Given the description of an element on the screen output the (x, y) to click on. 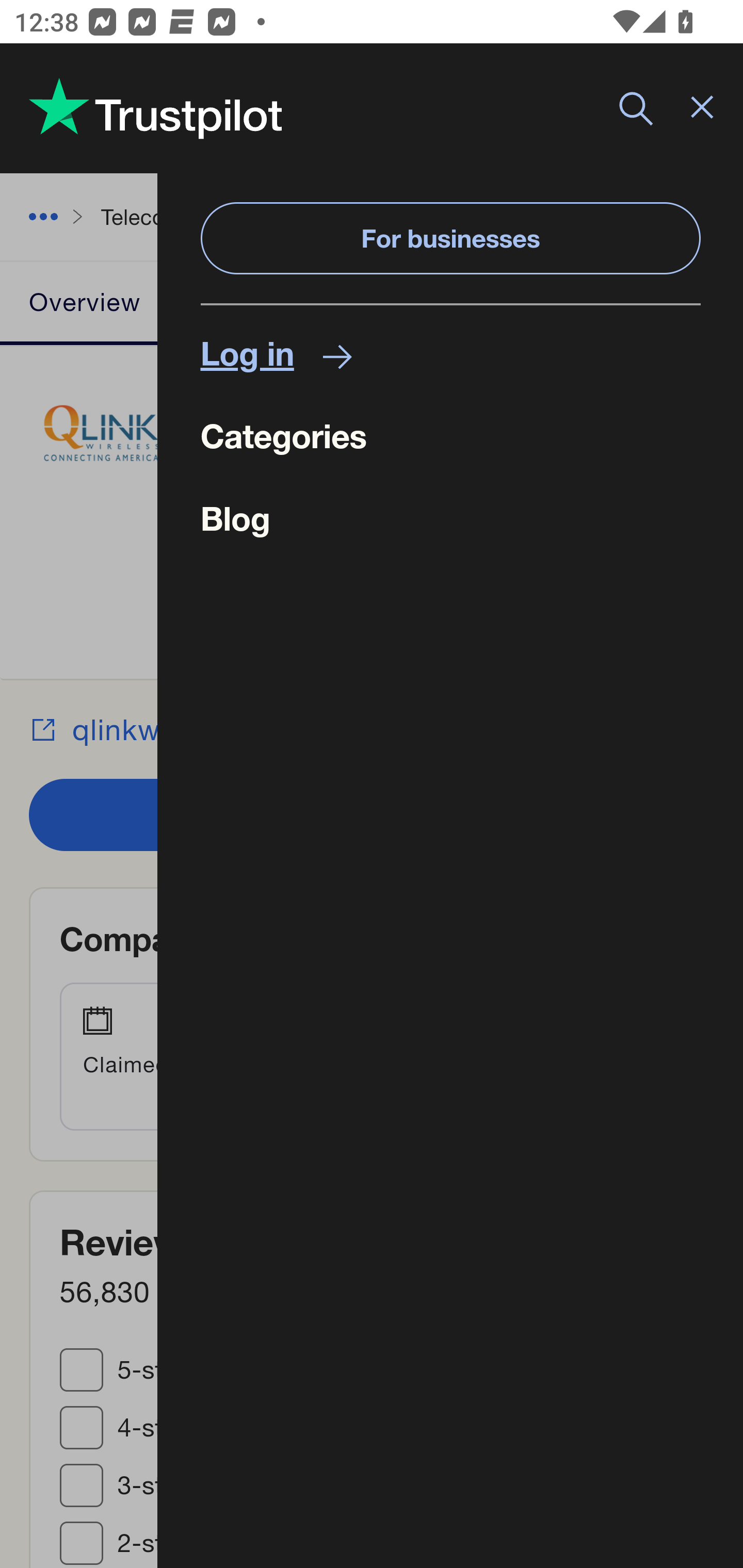
Trustpilot reviews (154, 108)
Search (636, 108)
Close menu (701, 108)
For businesses (450, 238)
Log in (450, 353)
Categories (450, 435)
Blog (450, 518)
